Given the description of an element on the screen output the (x, y) to click on. 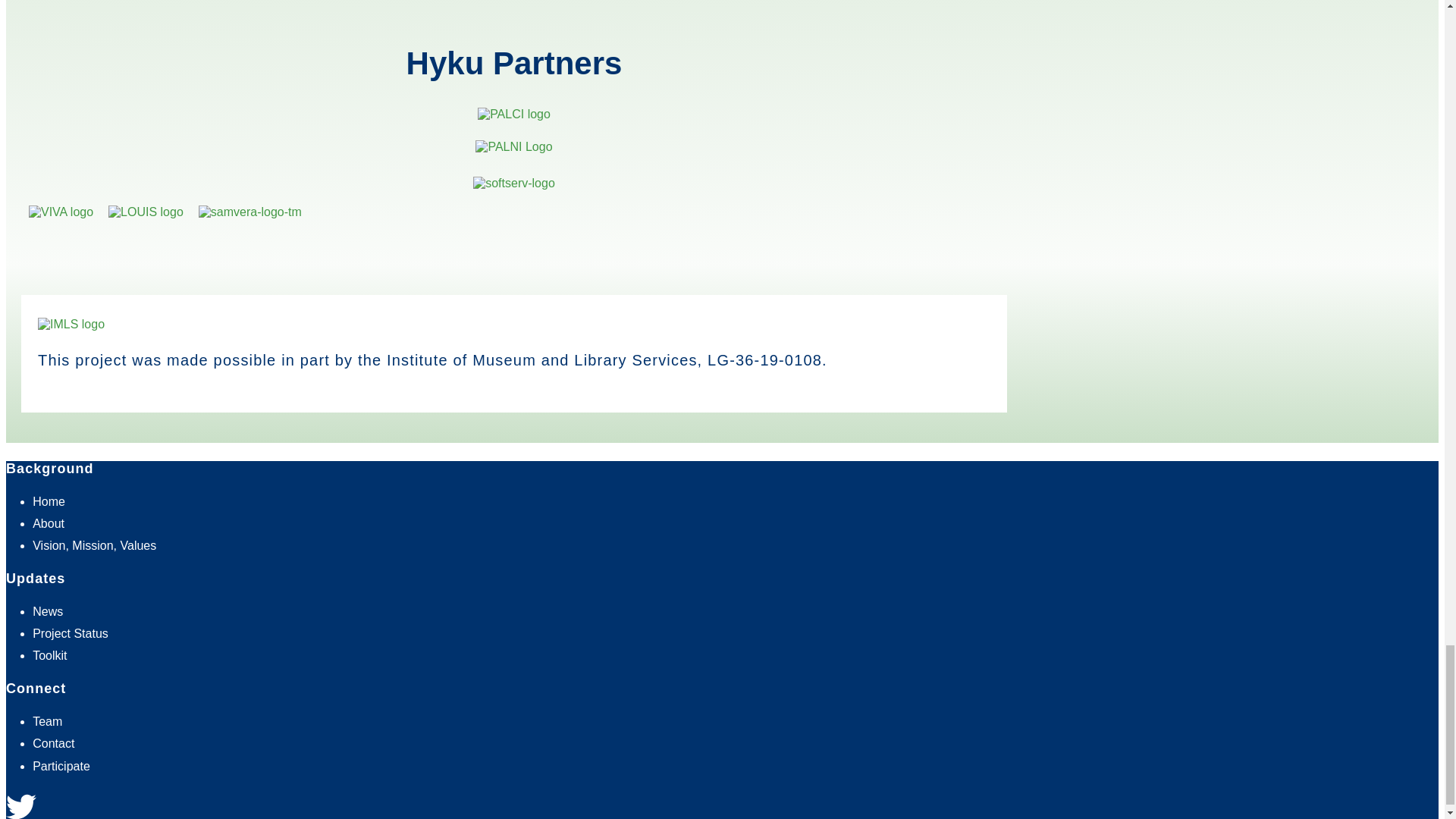
Contact (53, 743)
VIVA logo (61, 212)
Vision, Mission, Values (93, 545)
Project Status (69, 633)
Team (47, 721)
Participate (61, 766)
About (48, 522)
LOUIS logo (145, 212)
samvera-logo-tm (249, 212)
Home (48, 501)
News (47, 611)
PALCI logo (513, 114)
Toolkit (49, 655)
softserv-logo (513, 183)
IMLS logo (70, 324)
